Given the description of an element on the screen output the (x, y) to click on. 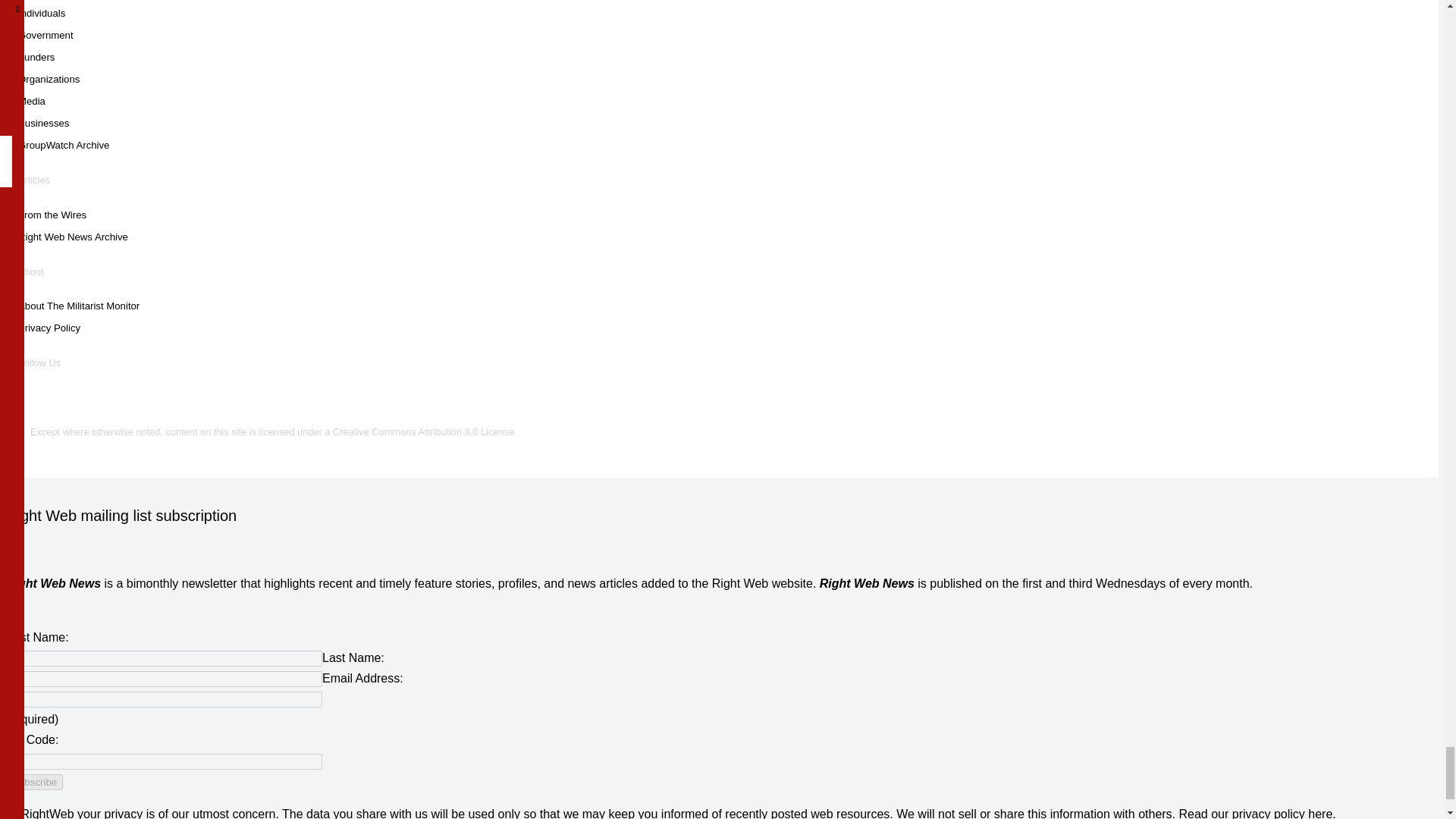
Subscribe (33, 781)
